Given the description of an element on the screen output the (x, y) to click on. 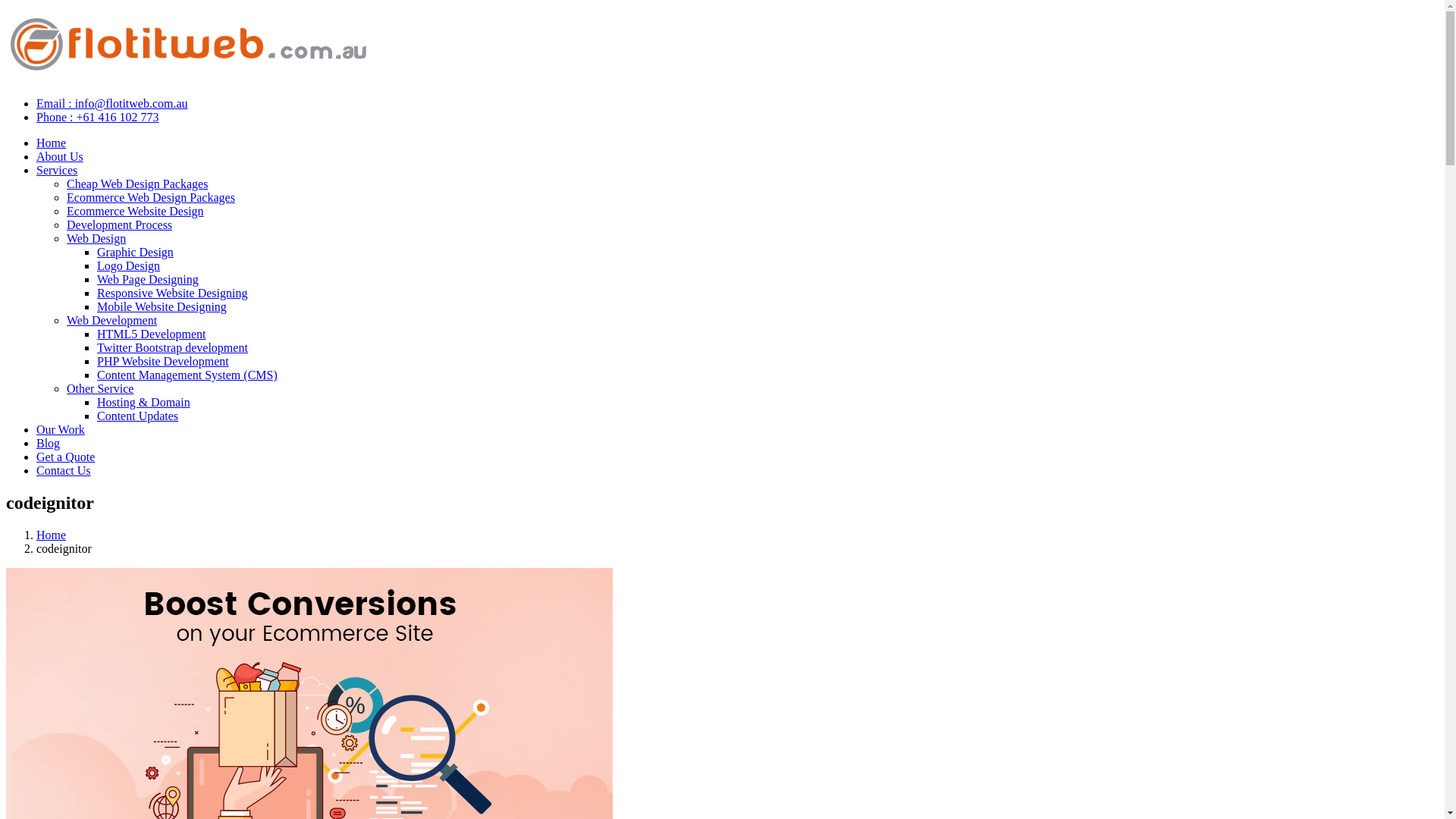
Blog Element type: text (47, 442)
Ecommerce Web Design Packages Element type: text (150, 197)
Web Page Designing Element type: text (147, 279)
Content Management System (CMS) Element type: text (187, 374)
Our Work Element type: text (60, 429)
Development Process Element type: text (119, 224)
Graphic Design Element type: text (135, 251)
Ecommerce Website Design Element type: text (134, 210)
Cheap Web Design Packages Element type: text (136, 183)
Responsive Website Designing Element type: text (172, 292)
HTML5 Development Element type: text (151, 333)
Get a Quote Element type: text (65, 456)
Mobile Website Designing Element type: text (161, 306)
Other Service Element type: text (99, 388)
Phone : +61 416 102 773 Element type: text (97, 116)
Services Element type: text (56, 169)
Web Design Element type: text (95, 238)
Hosting & Domain Element type: text (143, 401)
PHP Website Development Element type: text (163, 360)
Email : info@flotitweb.com.au Element type: text (112, 103)
Logo Design Element type: text (128, 265)
Home Element type: text (50, 534)
Web Development Element type: text (111, 319)
Content Updates Element type: text (137, 415)
Twitter Bootstrap development Element type: text (172, 347)
Contact Us Element type: text (63, 470)
Home Element type: text (50, 142)
About Us Element type: text (59, 156)
